Given the description of an element on the screen output the (x, y) to click on. 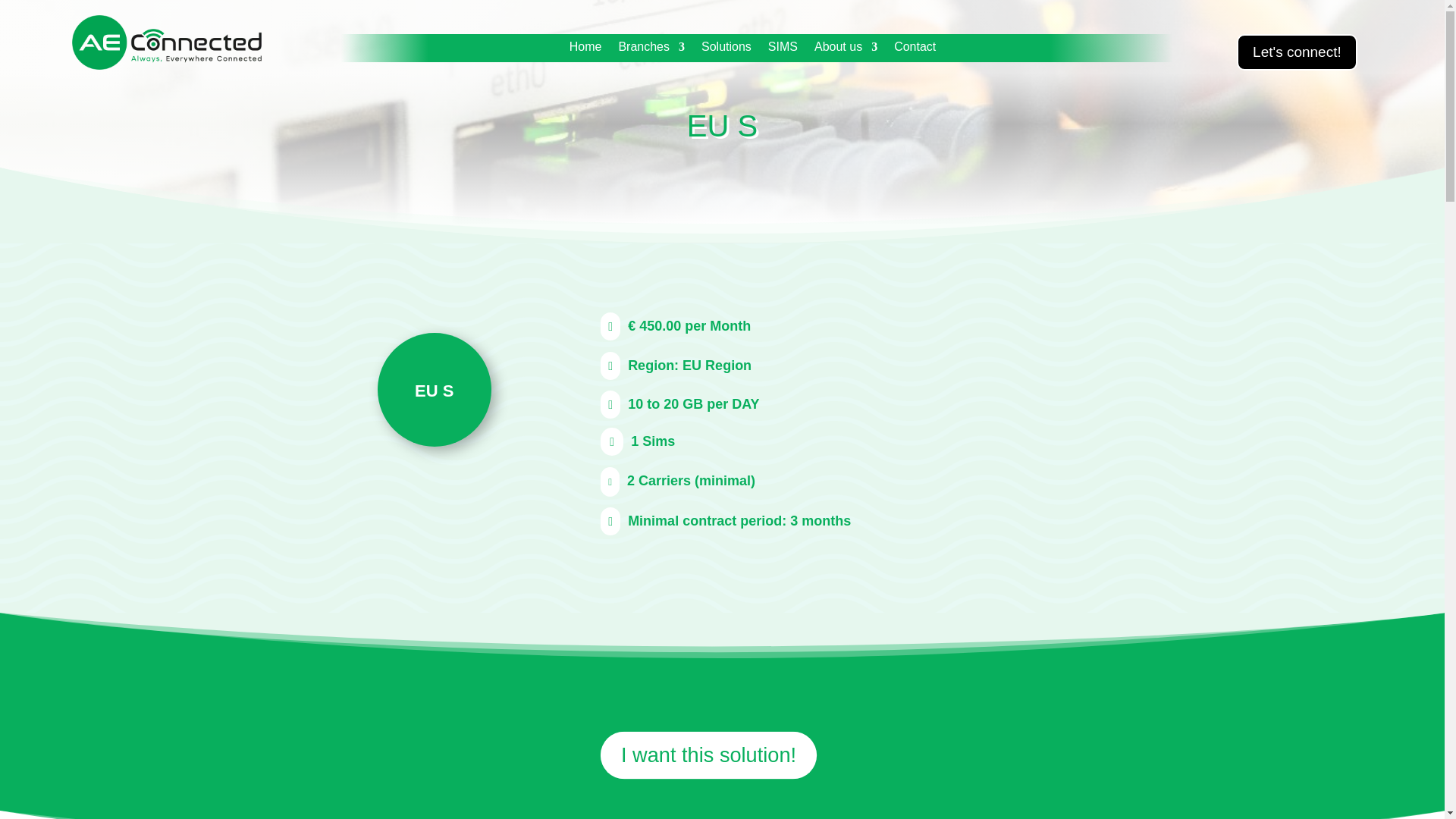
Solutions (726, 49)
Branches (650, 49)
Home (585, 49)
Logo-Version-1 AE Connected (166, 42)
About us (845, 49)
Contact (914, 49)
SIMS (782, 49)
